Given the description of an element on the screen output the (x, y) to click on. 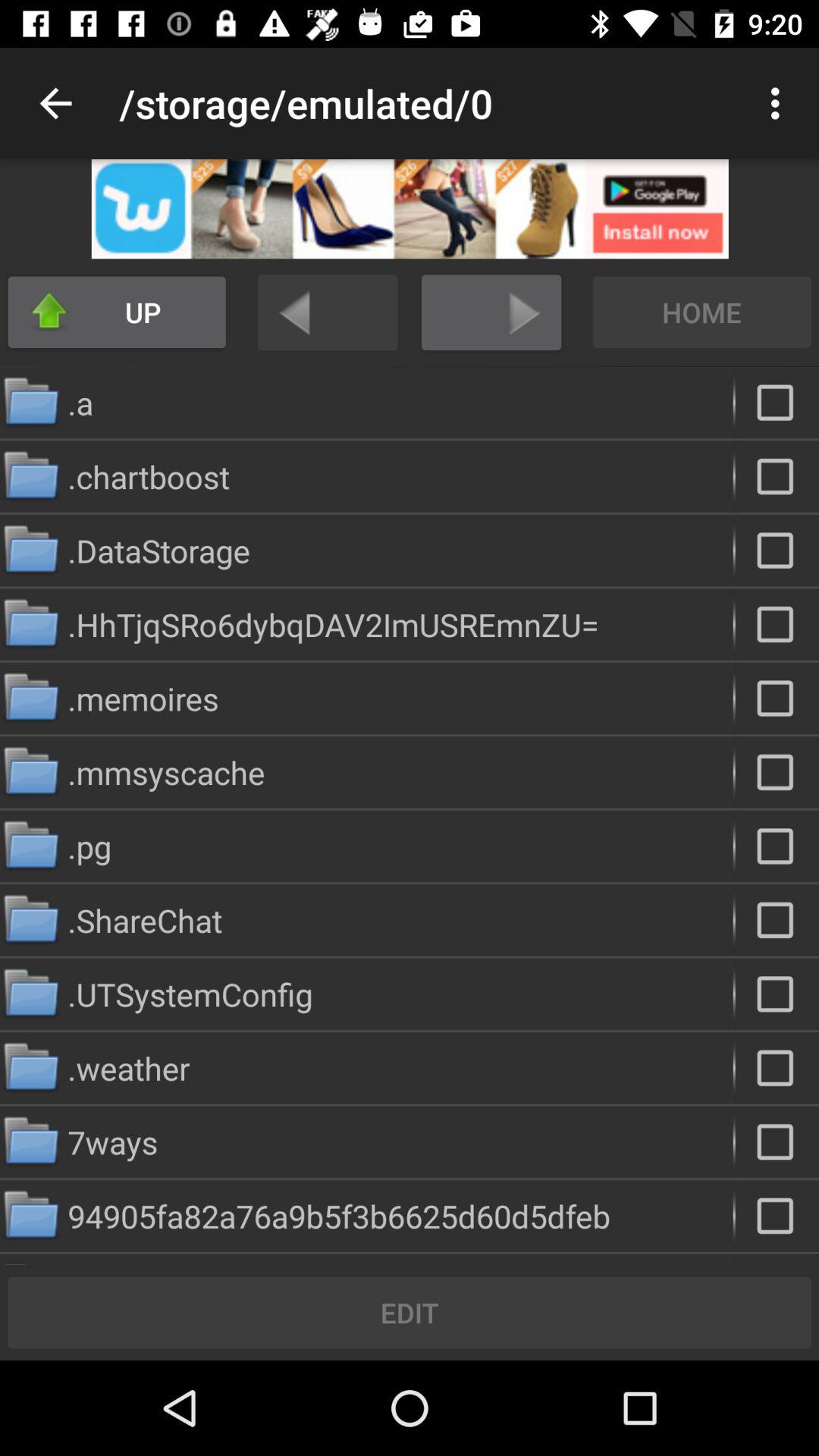
go to next (491, 312)
